Given the description of an element on the screen output the (x, y) to click on. 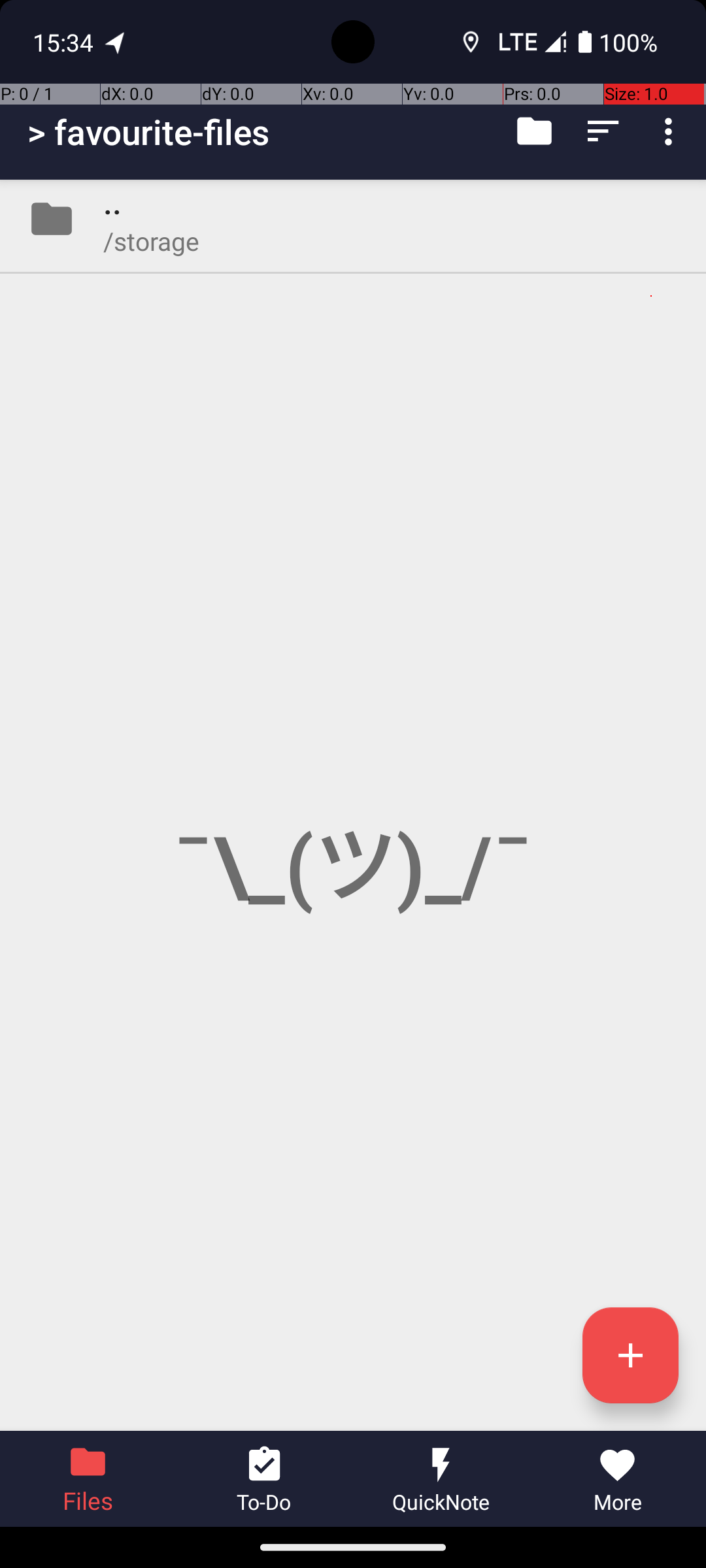
> favourite-files Element type: android.widget.TextView (148, 131)
